Given the description of an element on the screen output the (x, y) to click on. 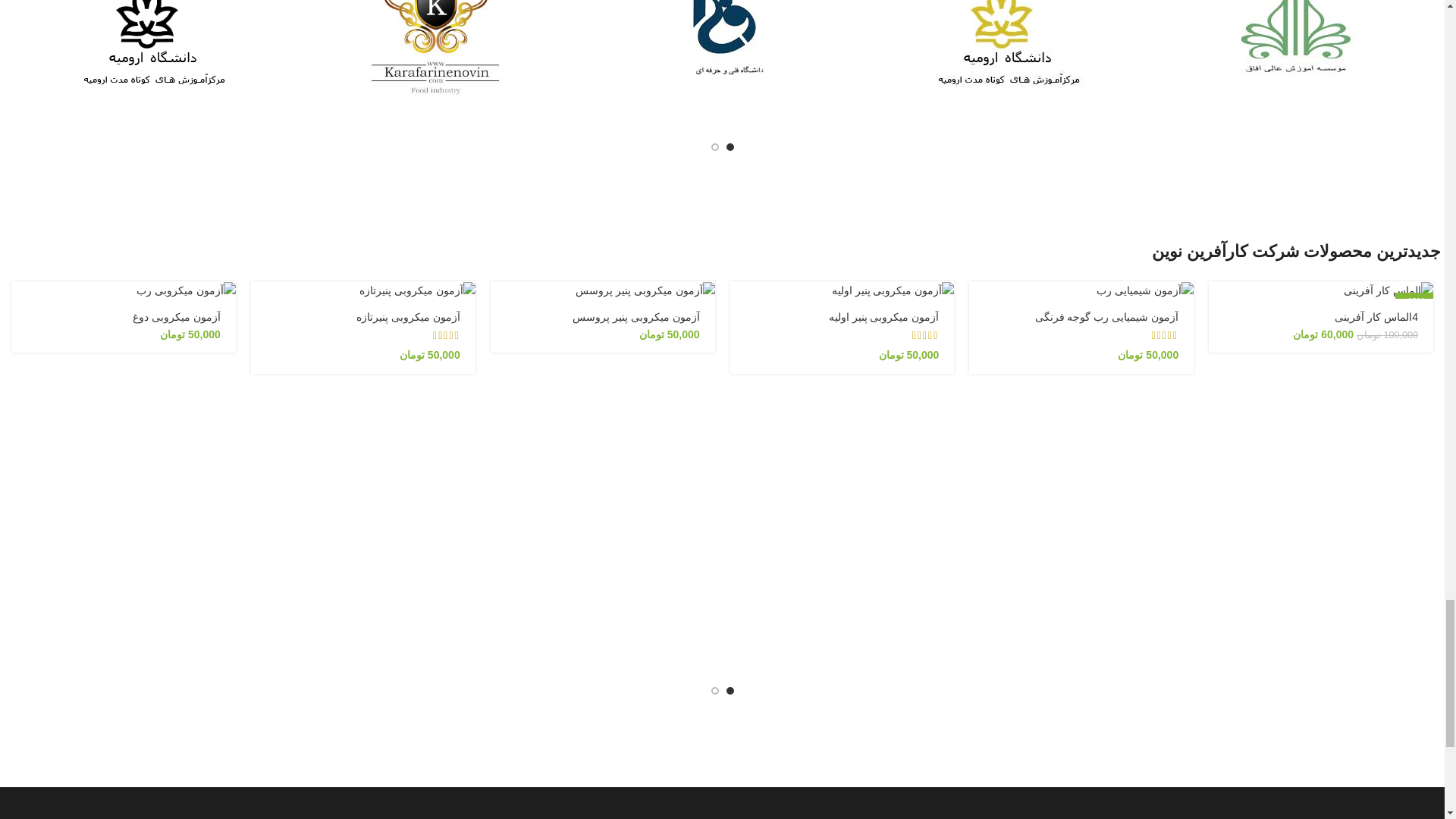
afagh (1292, 49)
